Given the description of an element on the screen output the (x, y) to click on. 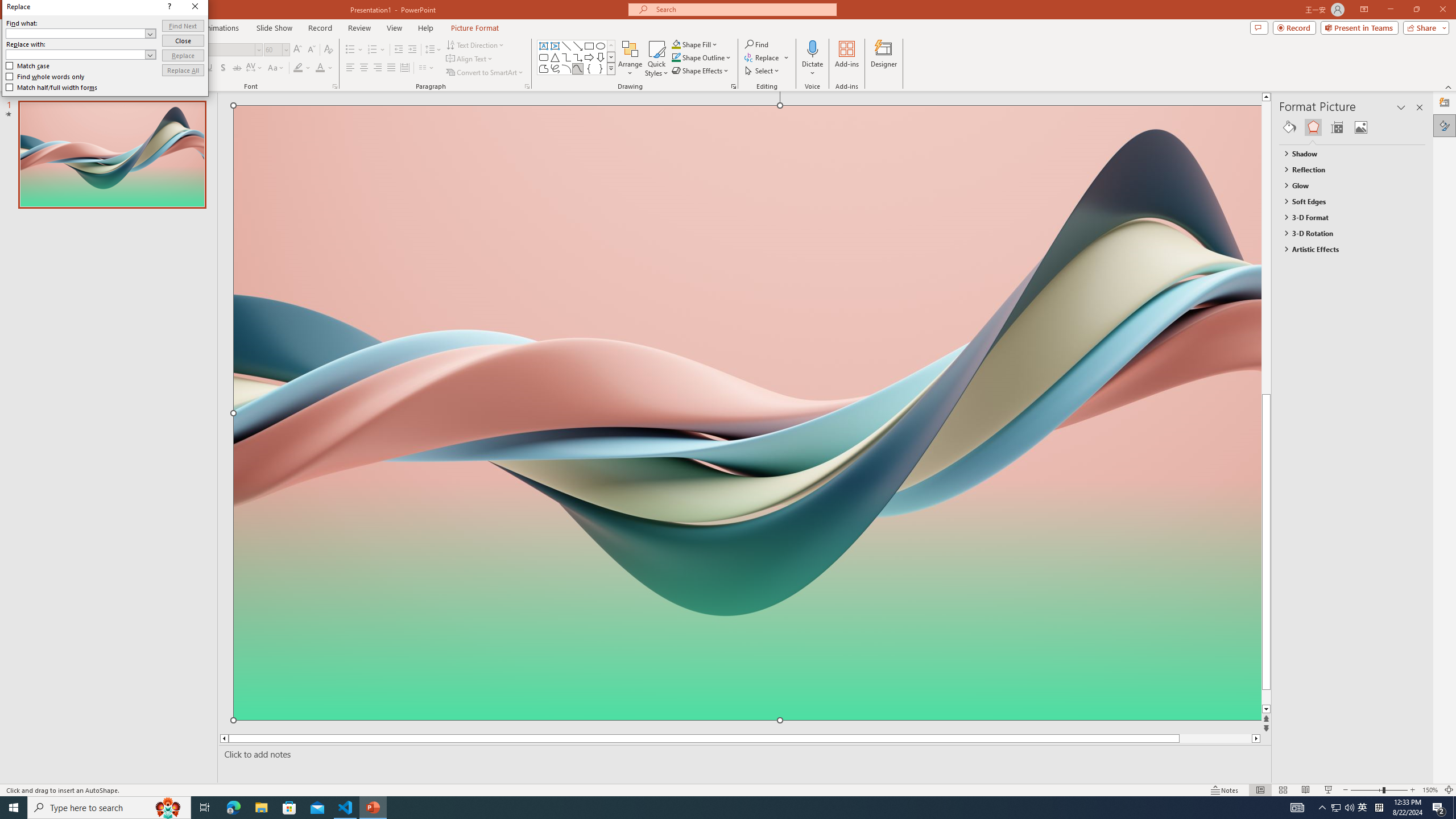
Artistic Effects (1347, 248)
Find what (75, 33)
Size & Properties (1336, 126)
Replace with (80, 54)
